Given the description of an element on the screen output the (x, y) to click on. 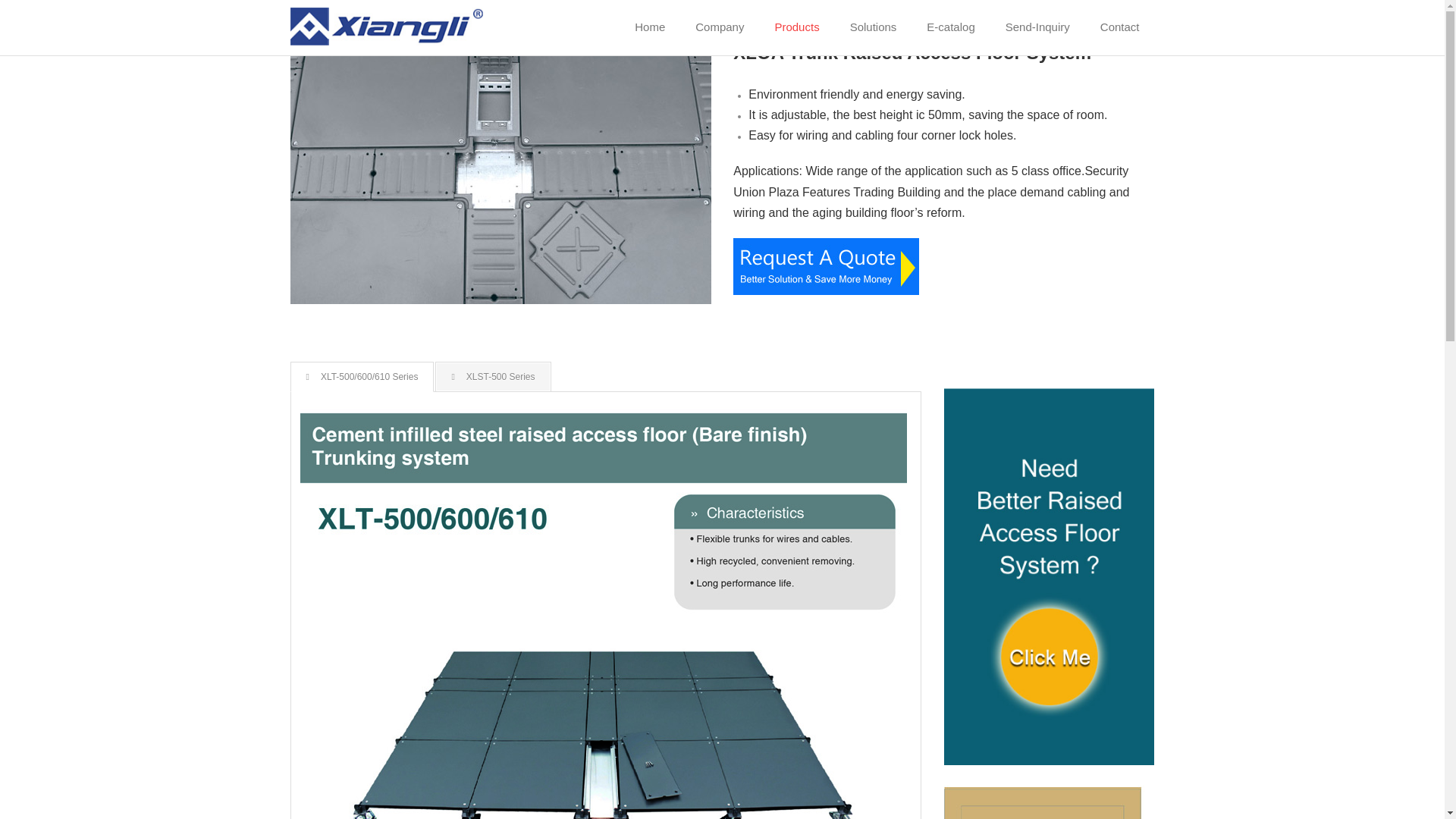
Send-Inquiry (1037, 27)
E-catalog (950, 27)
Company (718, 27)
Contact (1119, 27)
Solutions (873, 27)
Products (796, 27)
Home (649, 27)
